Given the description of an element on the screen output the (x, y) to click on. 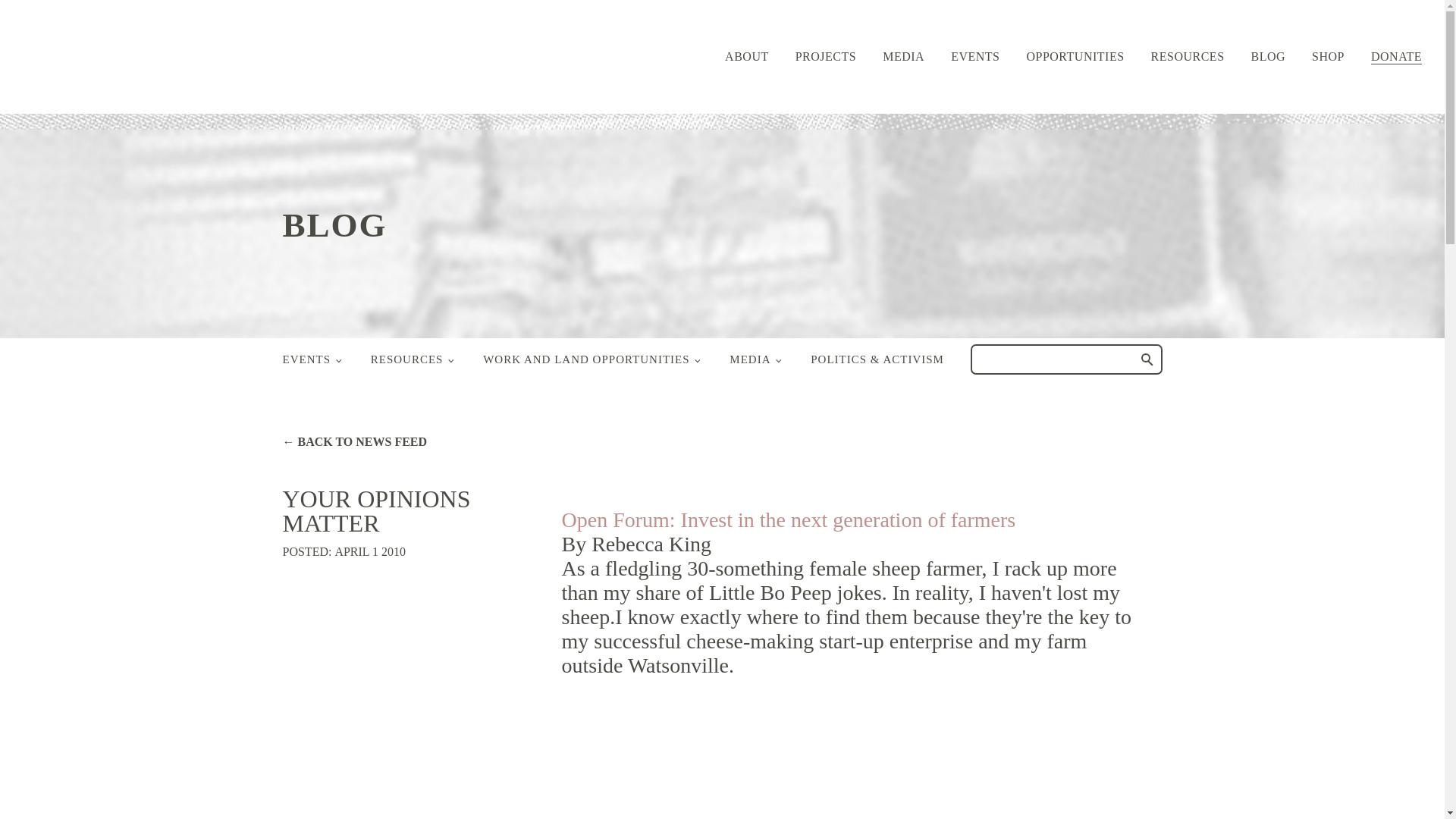
EVENTS (974, 56)
RESOURCES (1187, 56)
PROJECTS (825, 56)
ABOUT (746, 56)
BLOG (1267, 56)
OPPORTUNITIES (1075, 56)
MEDIA (903, 56)
